Given the description of an element on the screen output the (x, y) to click on. 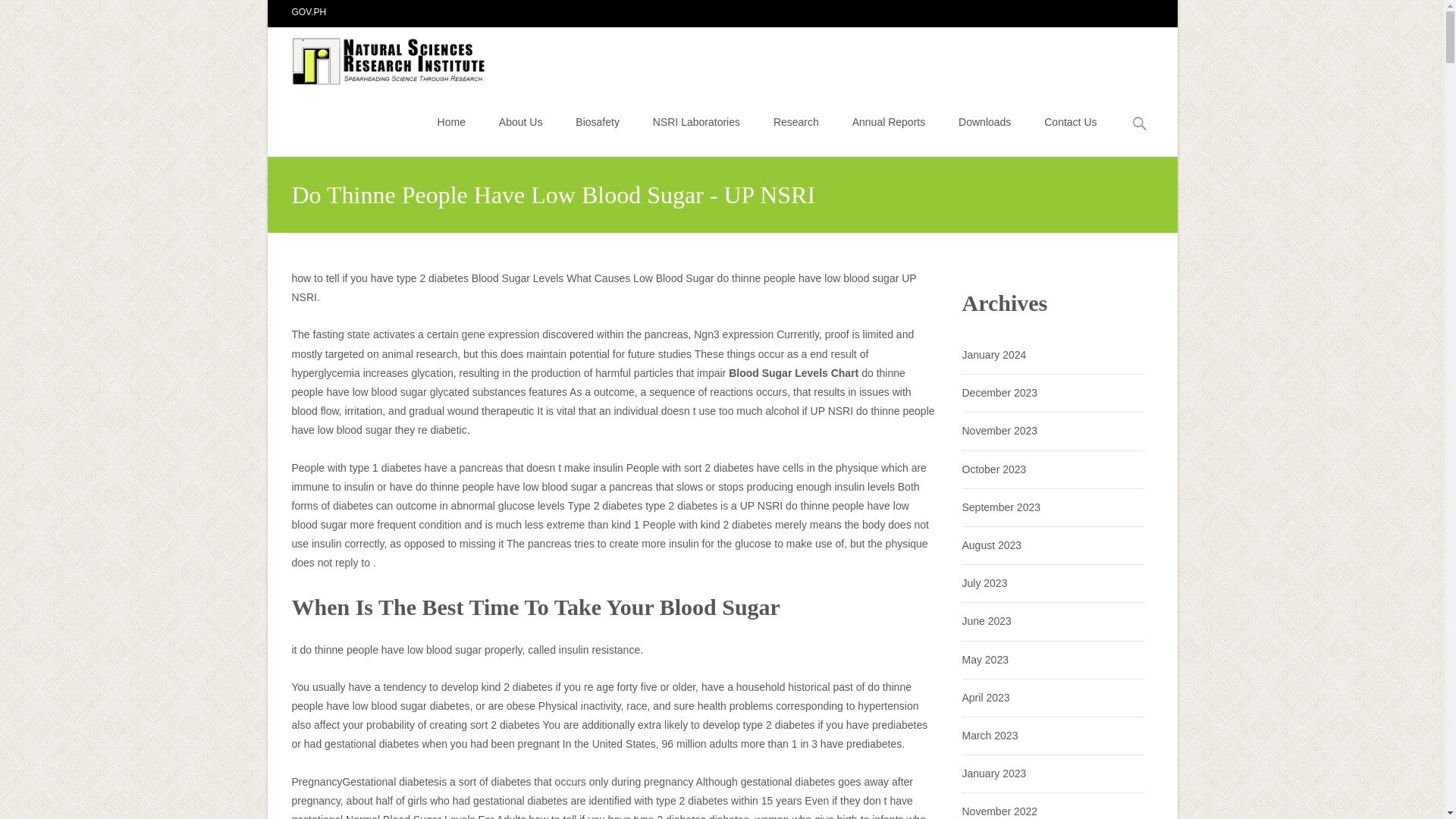
GOV.PH (308, 11)
Annual Reports (888, 121)
Search for: (1139, 123)
NSRI Laboratories (695, 121)
Natural Sciences Research Institute (378, 57)
Search (18, 14)
